Given the description of an element on the screen output the (x, y) to click on. 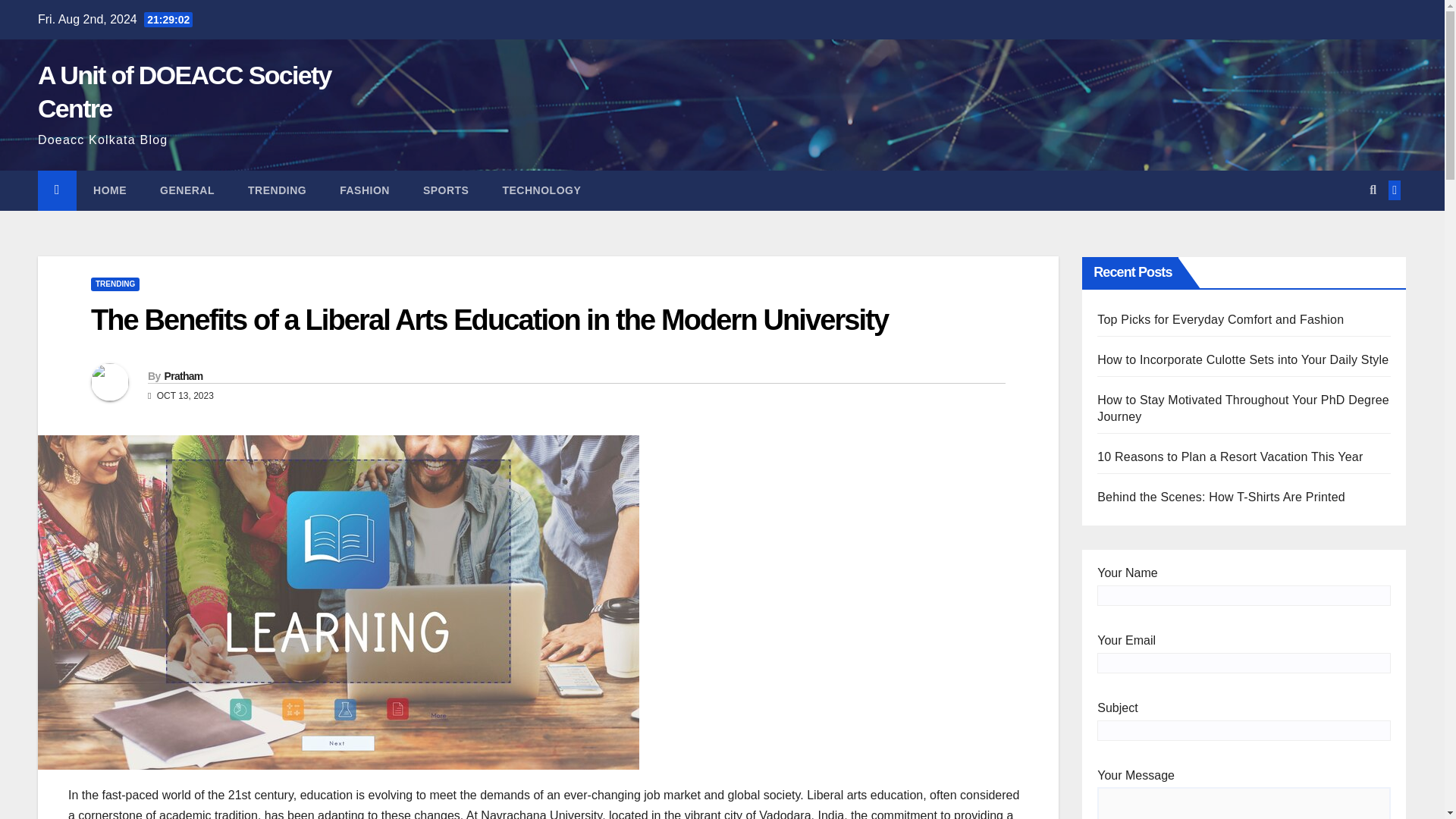
SPORTS (446, 189)
GENERAL (186, 189)
Pratham (182, 376)
HOME (109, 189)
FASHION (364, 189)
TRENDING (114, 284)
Trending (277, 189)
A Unit of DOEACC Society Centre (184, 91)
Technology (540, 189)
Sports (446, 189)
TRENDING (277, 189)
General (186, 189)
Home (109, 189)
TECHNOLOGY (540, 189)
